Given the description of an element on the screen output the (x, y) to click on. 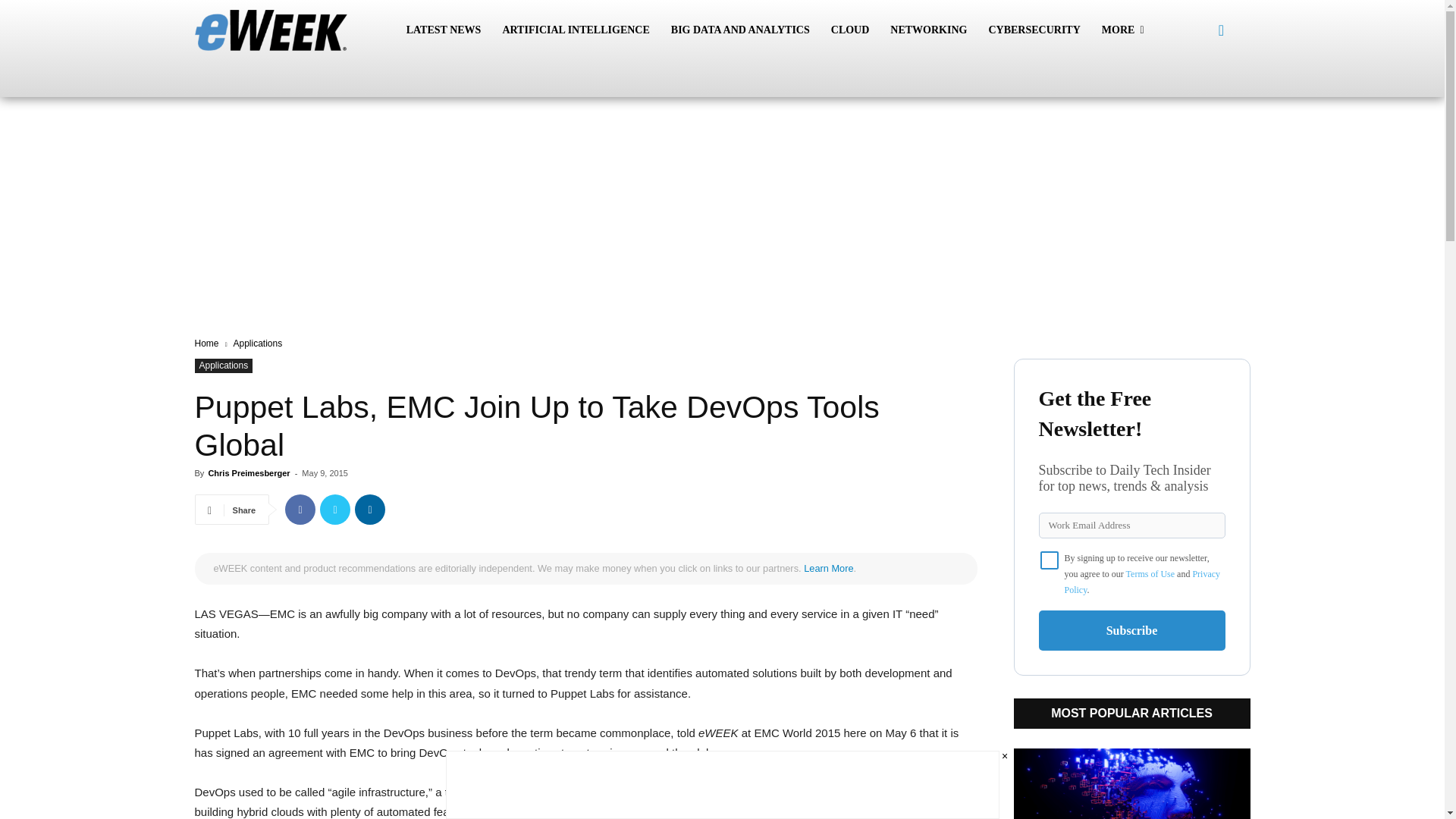
CLOUD (850, 30)
on (1049, 560)
LATEST NEWS (444, 30)
Twitter (335, 509)
CYBERSECURITY (1033, 30)
BIG DATA AND ANALYTICS (741, 30)
ARTIFICIAL INTELLIGENCE (575, 30)
Linkedin (370, 509)
Facebook (300, 509)
NETWORKING (927, 30)
